Given the description of an element on the screen output the (x, y) to click on. 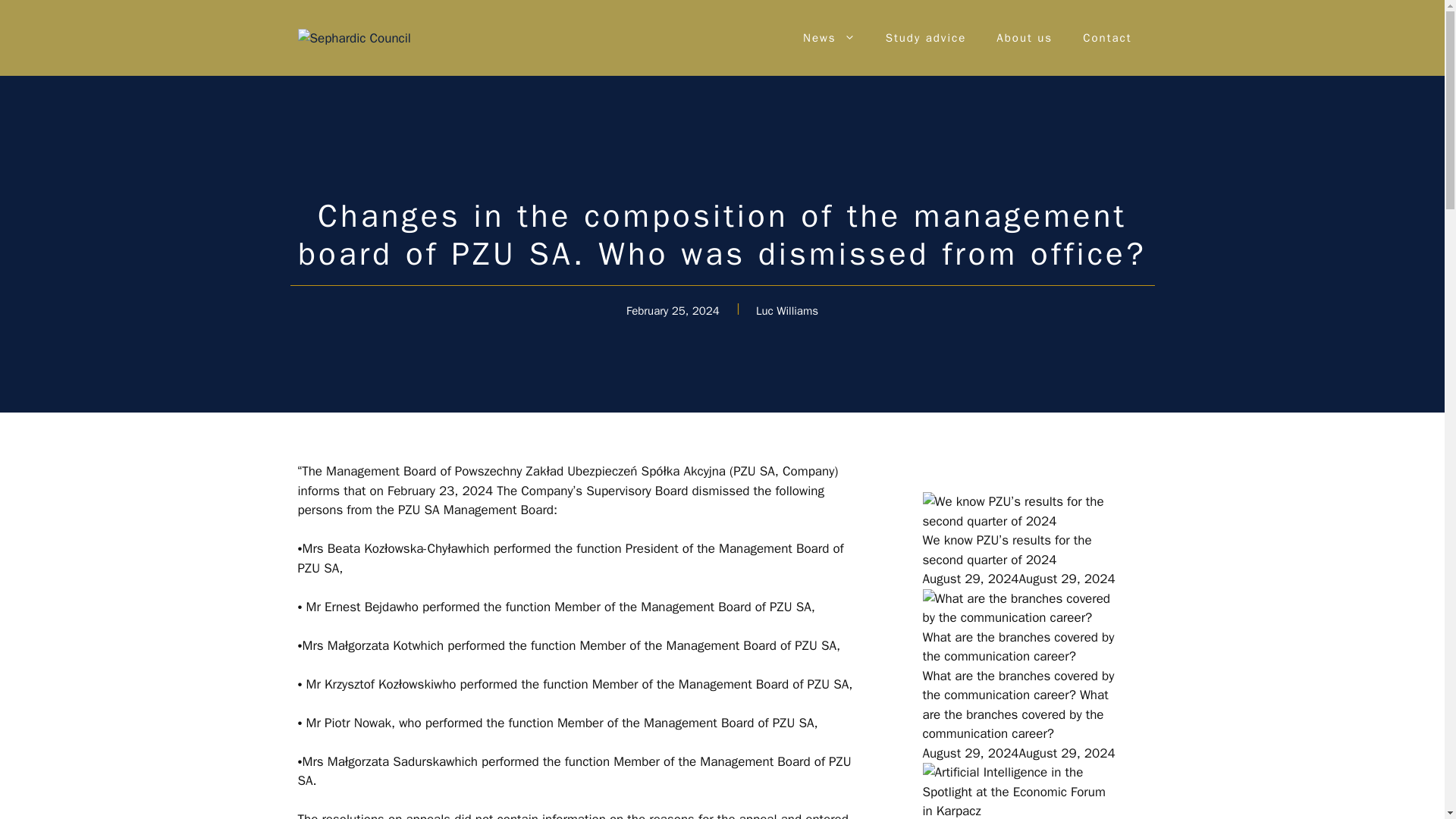
Contact (1107, 37)
August 29, 2024August 29, 2024 (1018, 578)
News (828, 37)
3:41 pm (1018, 753)
Study advice (925, 37)
5:40 pm (1018, 578)
About us (1024, 37)
